Given the description of an element on the screen output the (x, y) to click on. 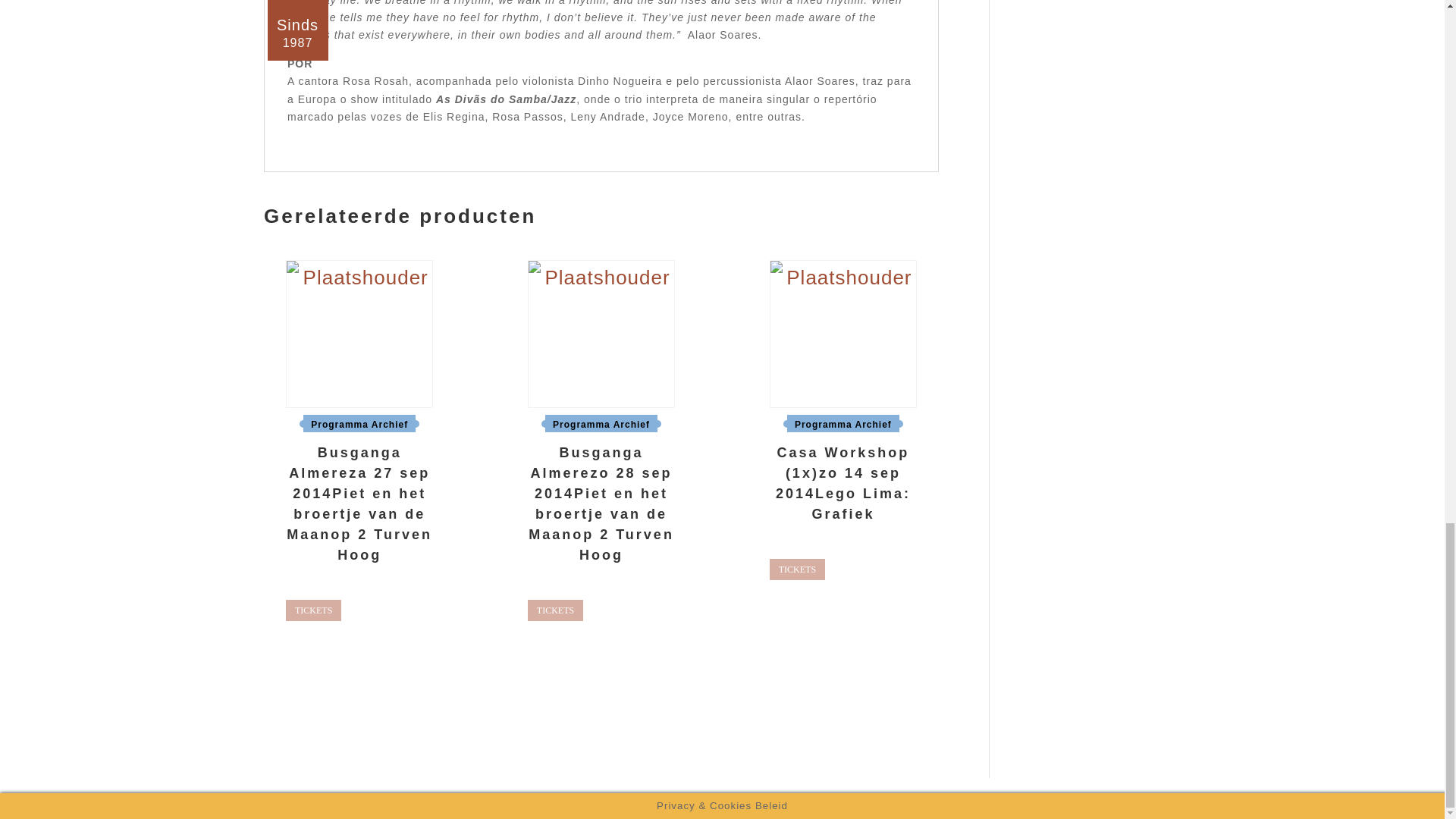
TICKETS (312, 609)
TICKETS (797, 568)
TICKETS (555, 609)
